Given the description of an element on the screen output the (x, y) to click on. 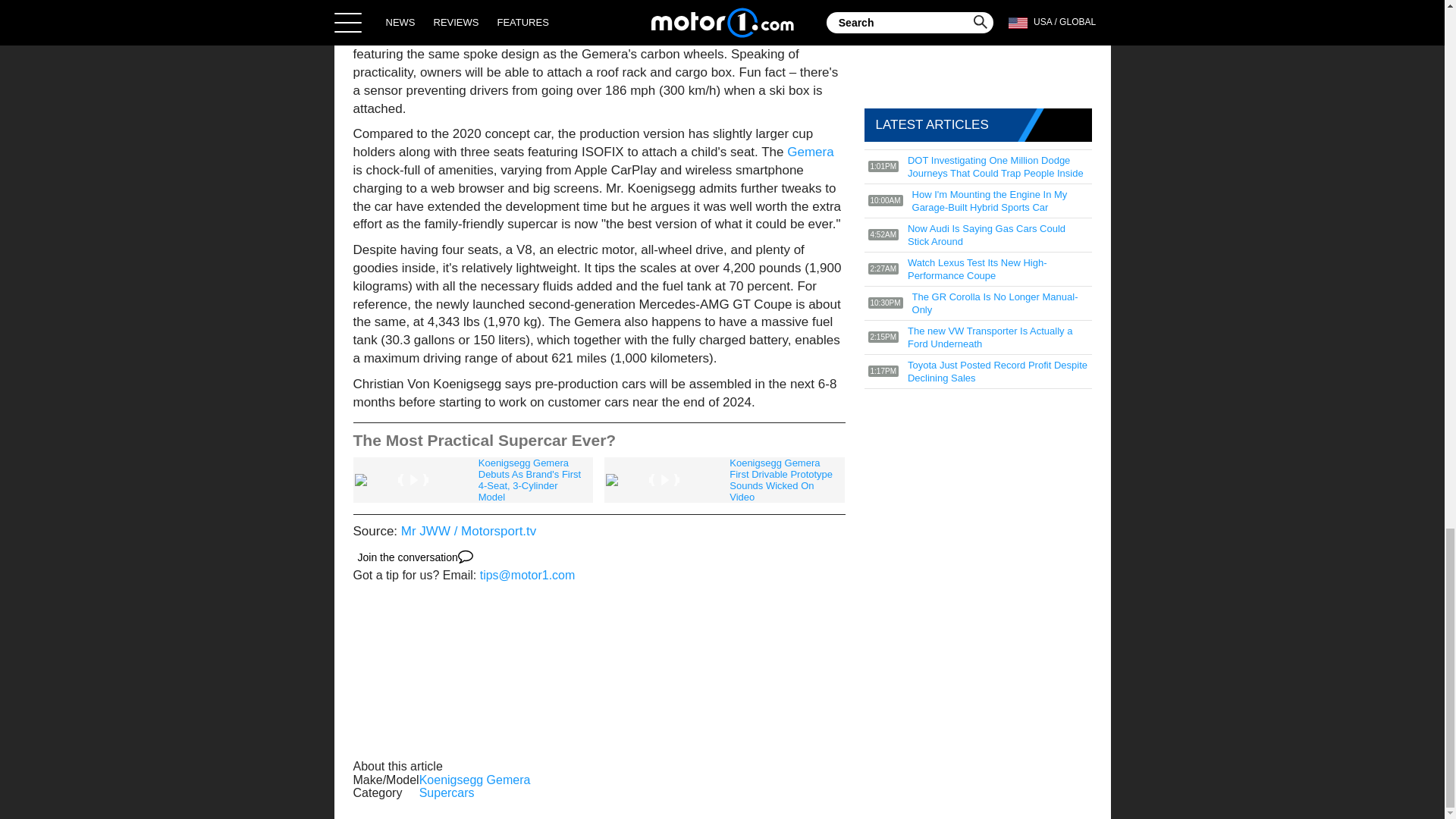
Gemera (809, 151)
